Given the description of an element on the screen output the (x, y) to click on. 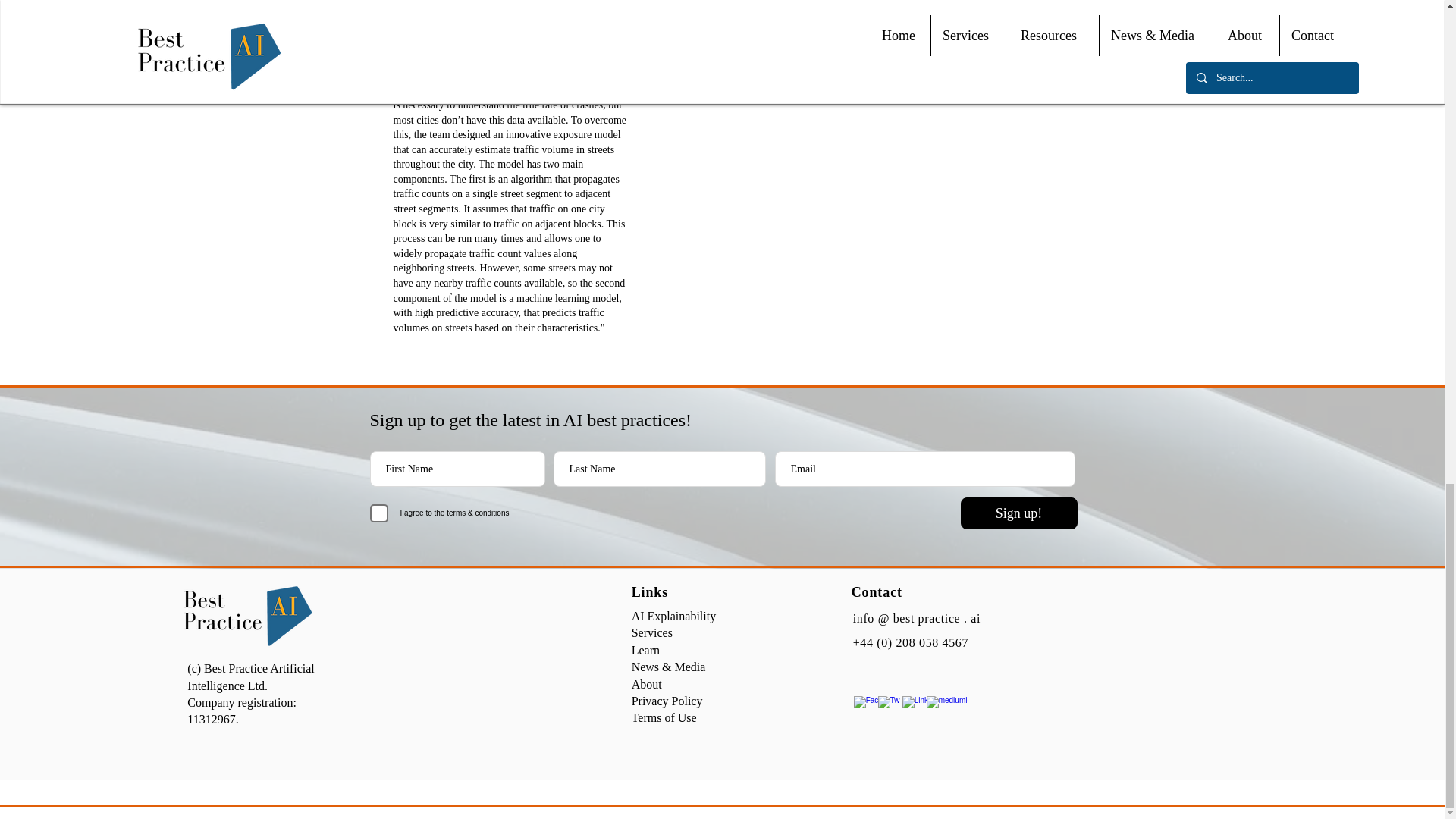
Contact (876, 591)
Services (651, 632)
AI Explainability (673, 615)
Sign up! (1018, 513)
Learn (645, 649)
About (646, 684)
Terms of Use (664, 717)
Privacy Policy (667, 700)
